Given the description of an element on the screen output the (x, y) to click on. 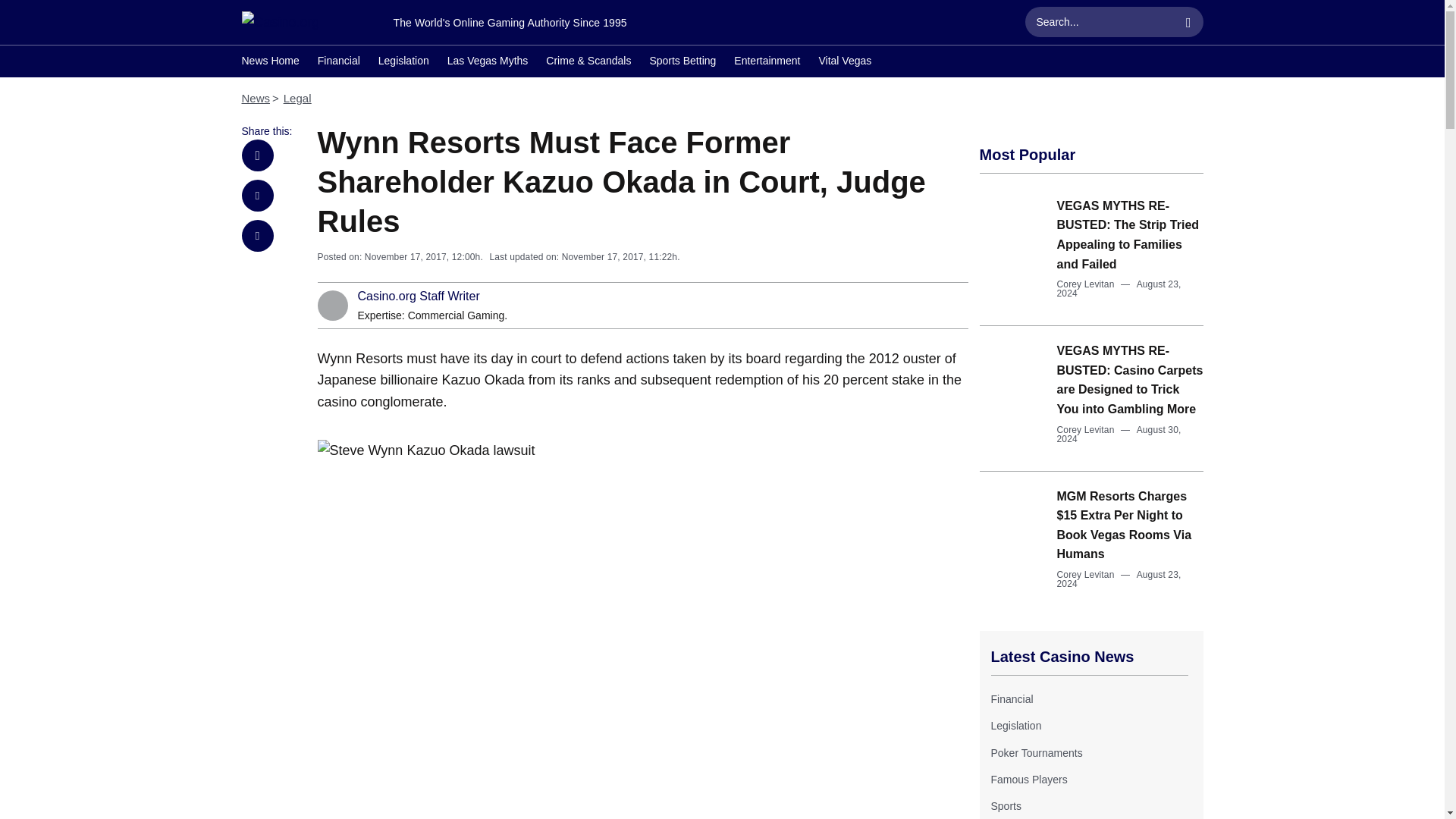
Sports Betting (682, 61)
Sports (1005, 806)
Vital Vegas (845, 61)
Legislation (1015, 725)
Corey Levitan (1086, 429)
Poker Tournaments (1035, 752)
Poker Tournaments (1035, 752)
Casino.org Staff Writer (419, 296)
Entertainment (766, 61)
Famous Players (1028, 779)
